Given the description of an element on the screen output the (x, y) to click on. 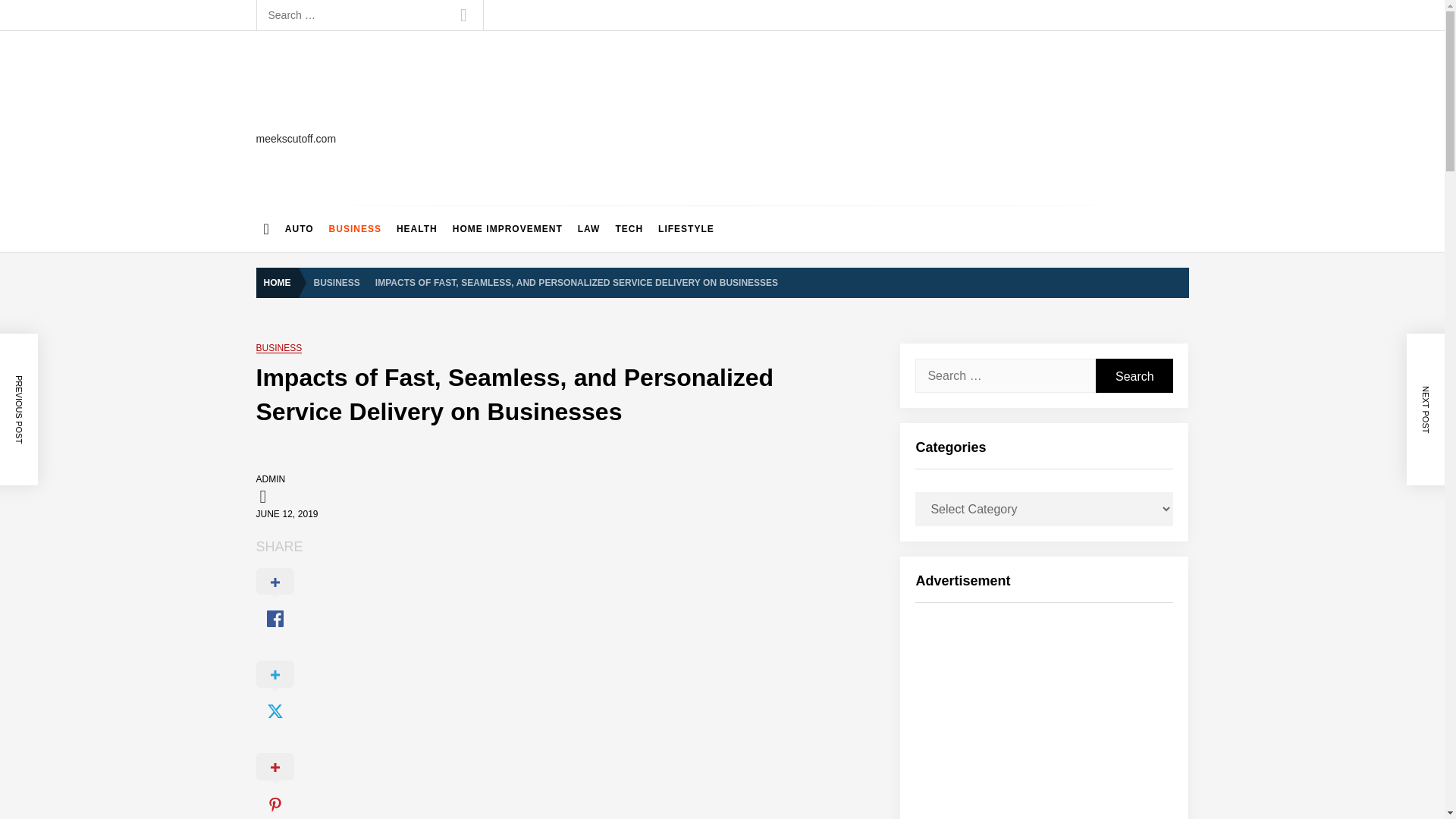
BUSINESS (354, 228)
Header Advertise (1074, 118)
Search (462, 15)
HOME IMPROVEMENT (507, 228)
BUSINESS (279, 347)
Search (1134, 375)
BUSINESS (336, 281)
LIFESTYLE (686, 228)
TECH (628, 228)
Search (462, 15)
